Given the description of an element on the screen output the (x, y) to click on. 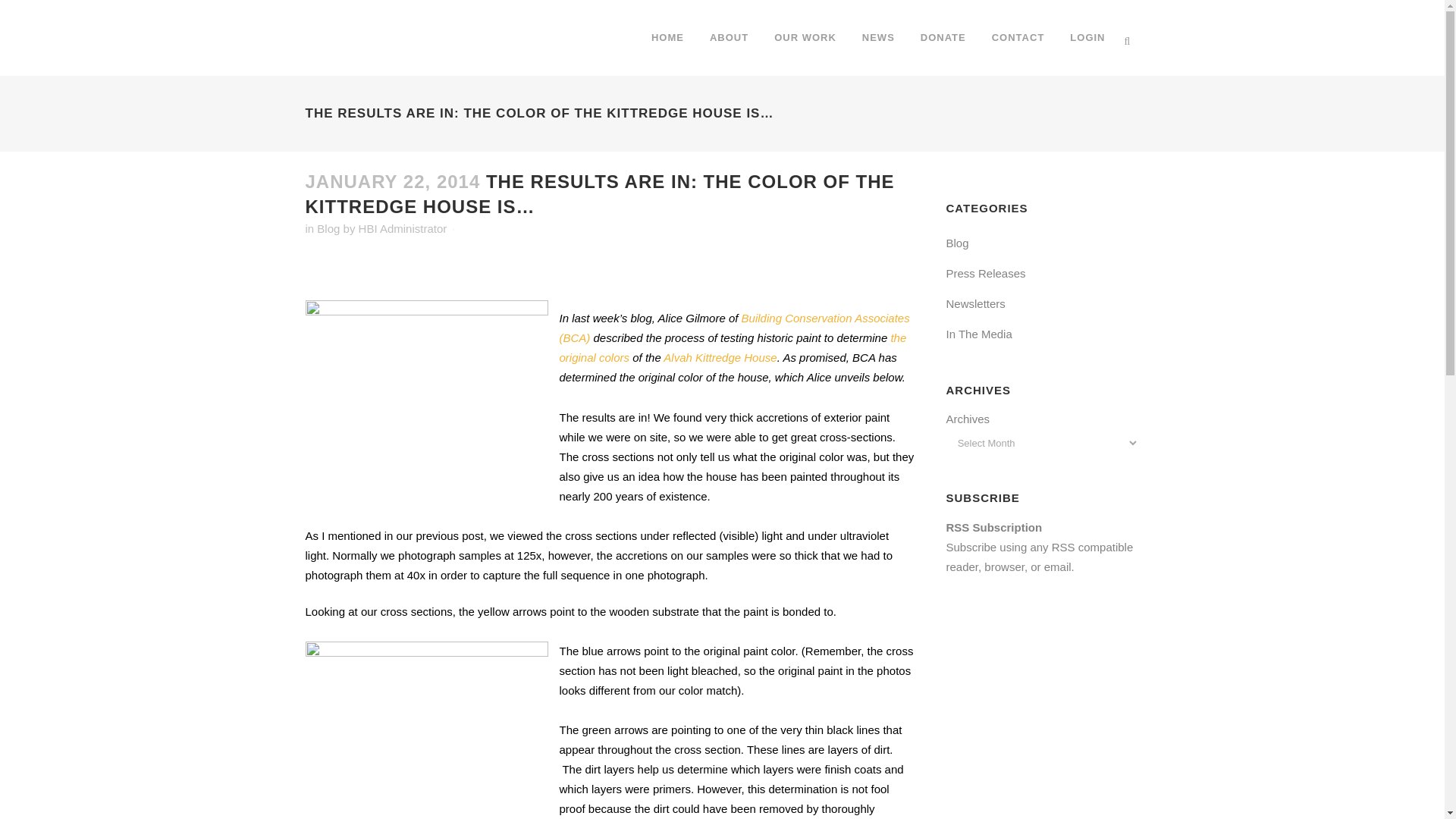
OUR WORK (804, 38)
CONTACT (1018, 38)
DONATE (942, 38)
